Given the description of an element on the screen output the (x, y) to click on. 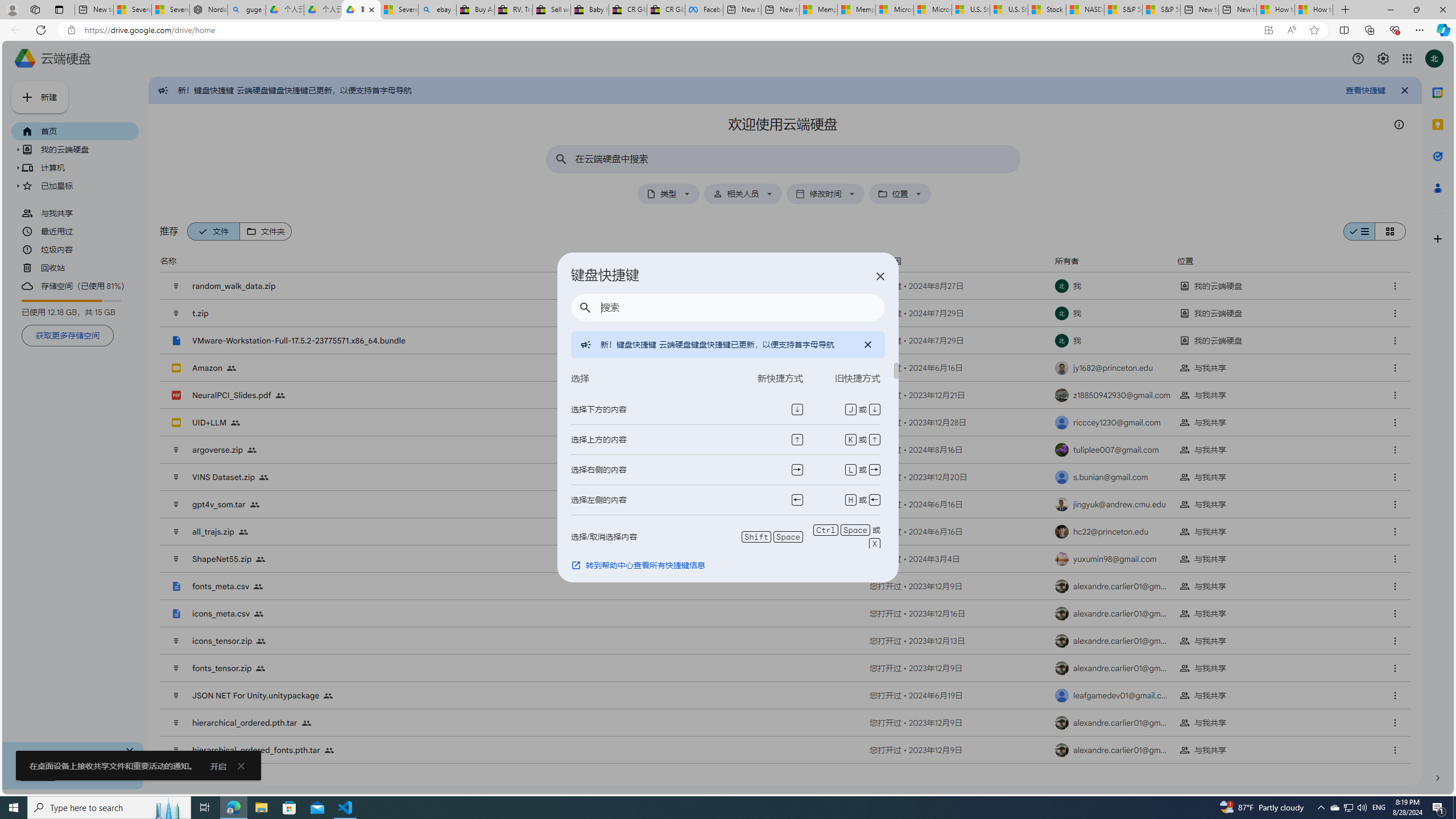
Baby Keepsakes & Announcements for sale | eBay (589, 9)
ebay - Search (437, 9)
